Given the description of an element on the screen output the (x, y) to click on. 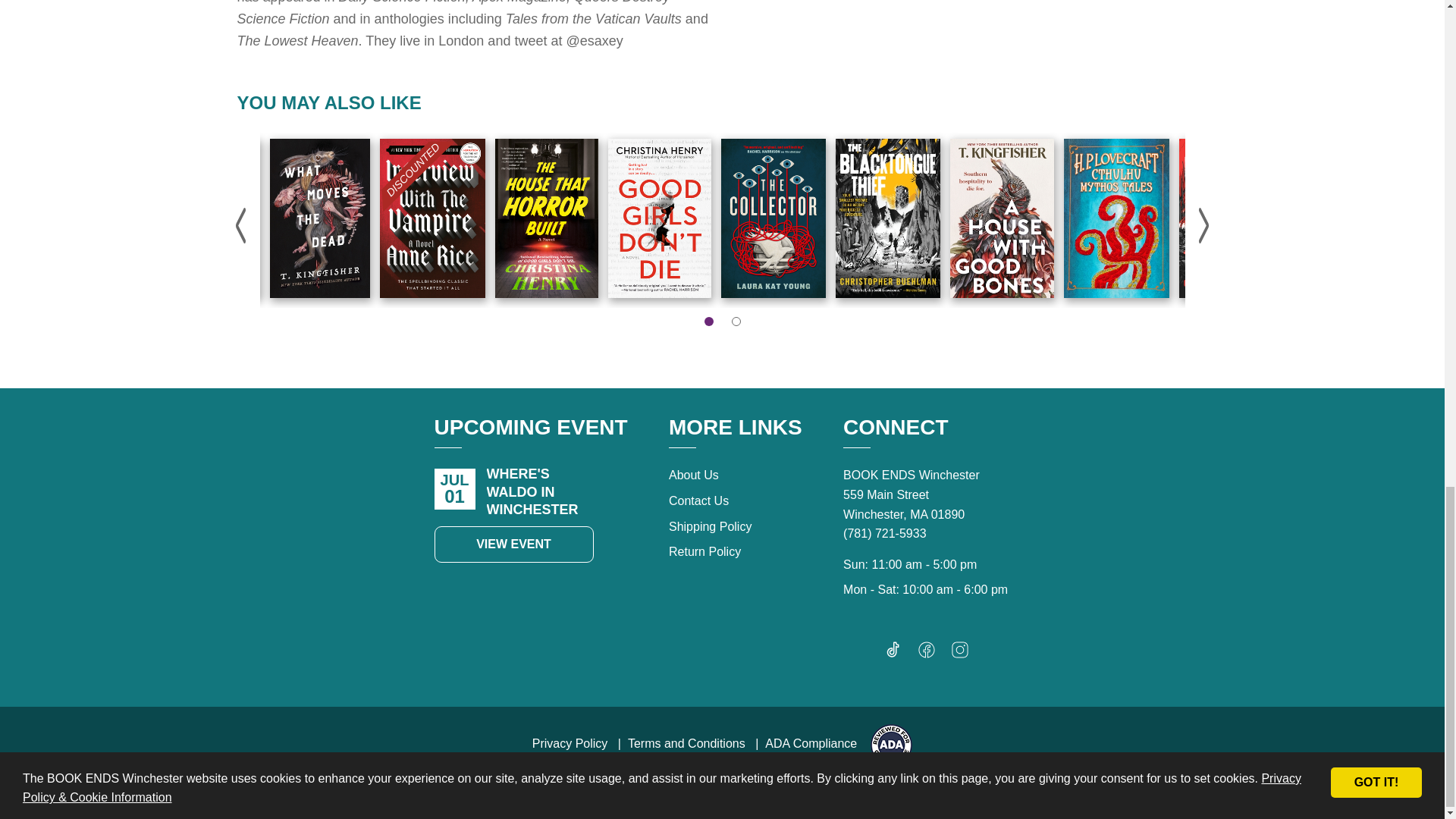
Connect with Tik Tok (892, 653)
Connect with Facebook (926, 653)
Connect with Instagram (959, 653)
